Given the description of an element on the screen output the (x, y) to click on. 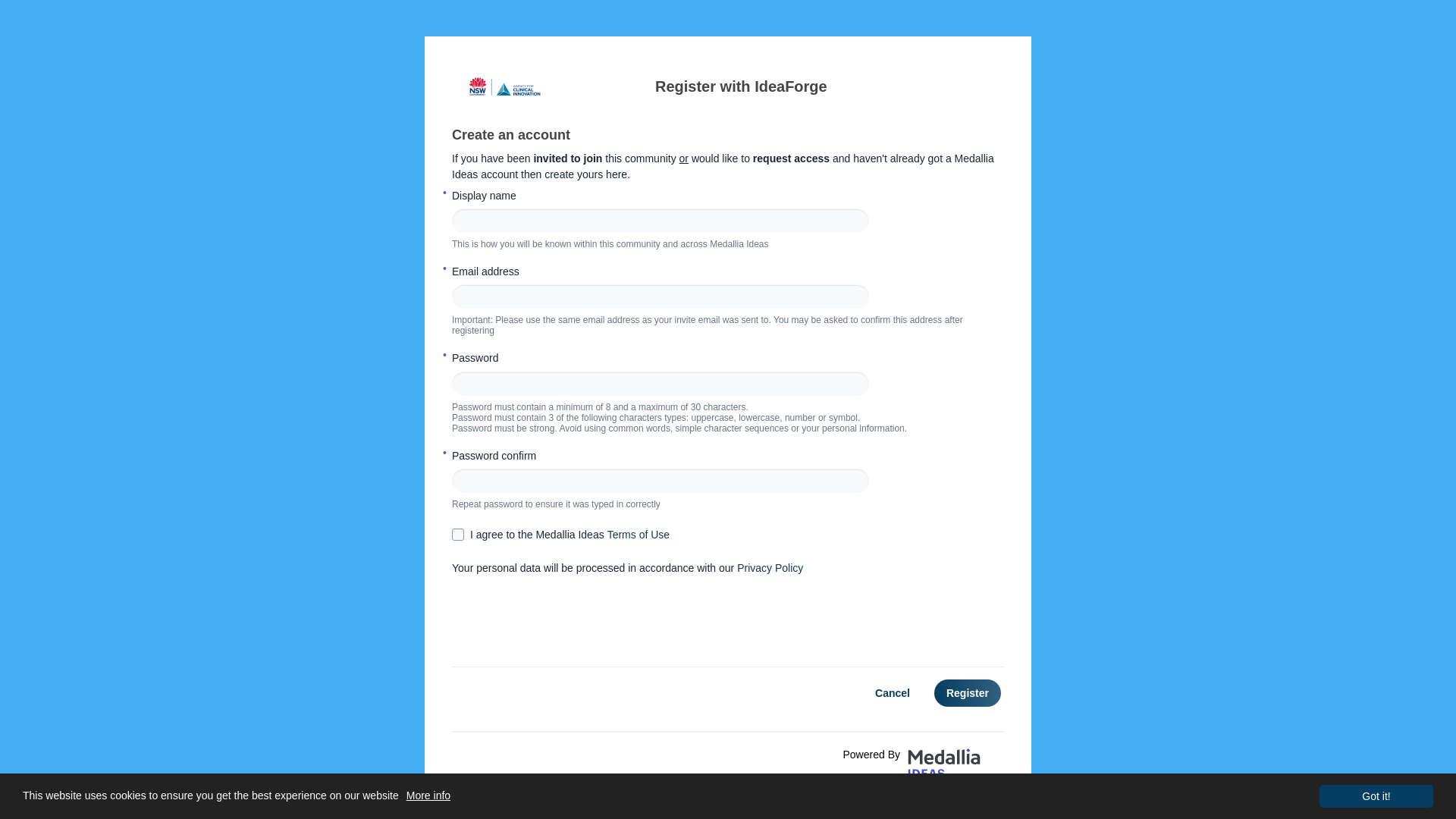
Cancel Element type: text (892, 692)
Register Element type: text (967, 692)
Privacy Policy Element type: text (770, 567)
Terms of Use Element type: text (638, 534)
Got it! Element type: text (1376, 795)
Powered By Element type: text (893, 756)
More info Element type: text (424, 795)
